Given the description of an element on the screen output the (x, y) to click on. 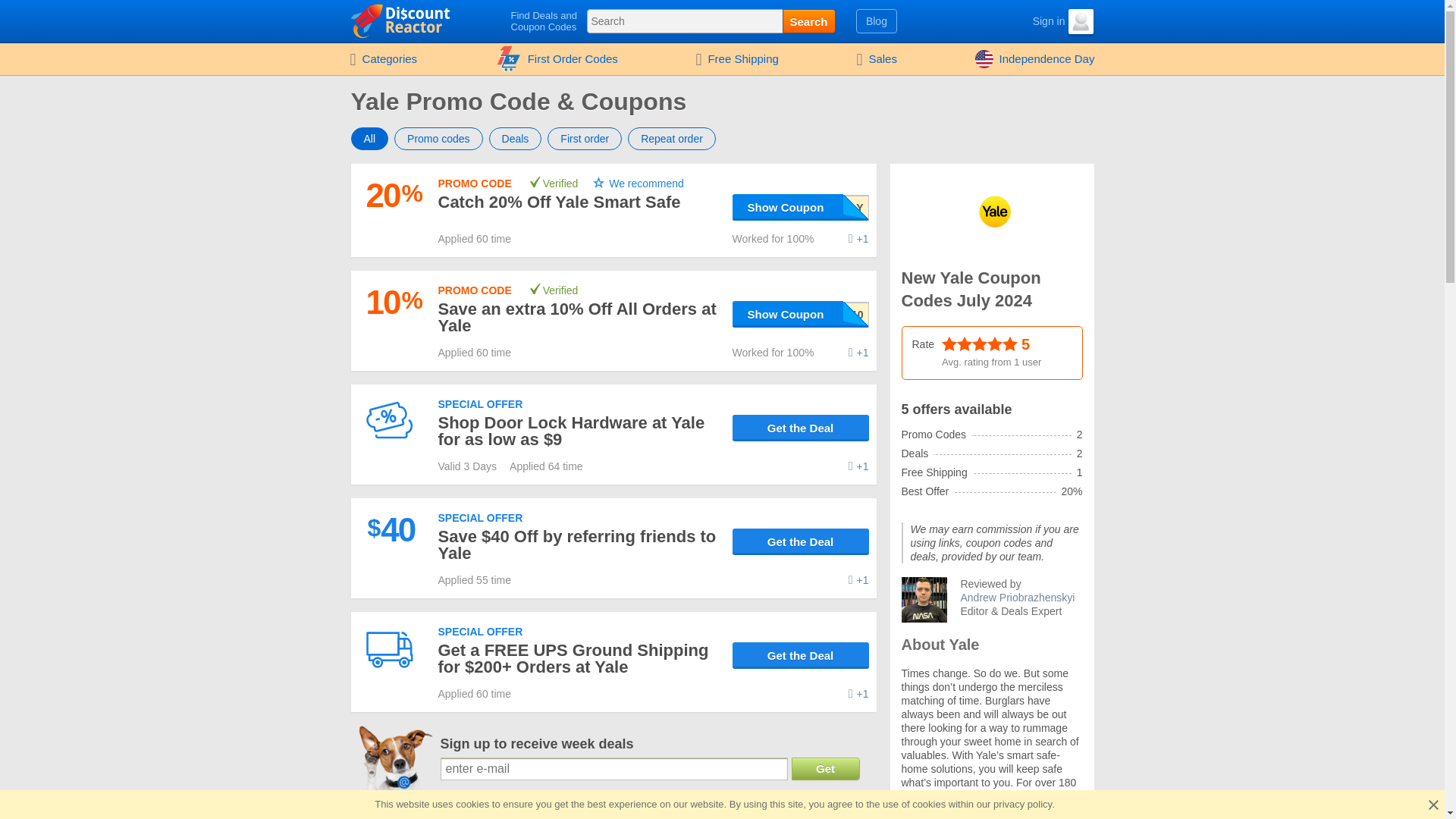
Leave your comment  (858, 238)
Blog (876, 20)
Sales (876, 59)
Leave your comment  (858, 580)
Show Coupon (800, 207)
Get the Deal (800, 655)
Sign in (1036, 21)
Show Coupon (800, 207)
Independence Day (1034, 59)
Get the Deal (800, 427)
Show Coupon (800, 314)
Leave your comment  (858, 352)
Categories (382, 59)
Free Shipping (736, 59)
Leave your comment  (858, 466)
